Given the description of an element on the screen output the (x, y) to click on. 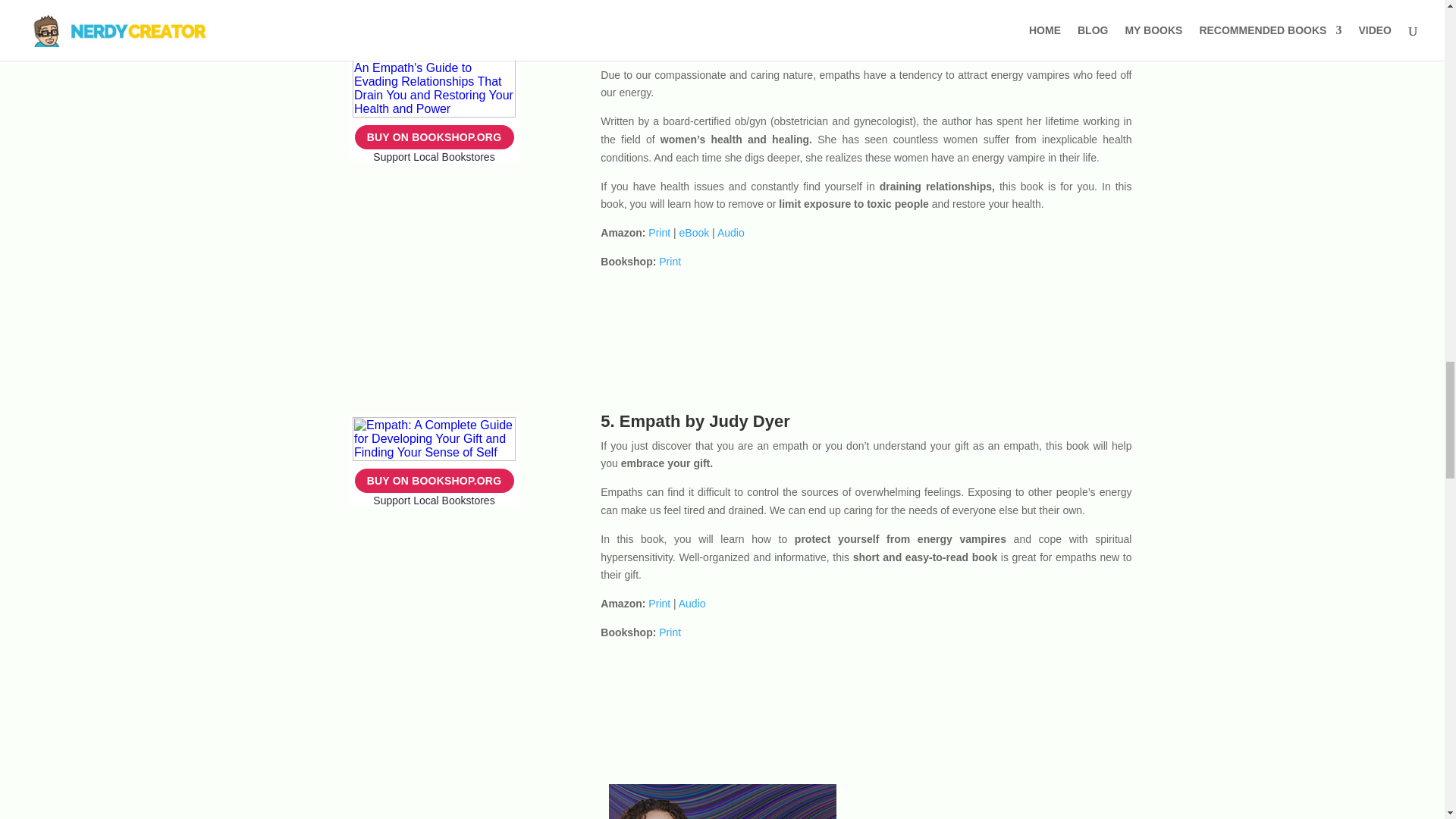
Audio (730, 232)
eBook (694, 232)
Print (658, 232)
